Given the description of an element on the screen output the (x, y) to click on. 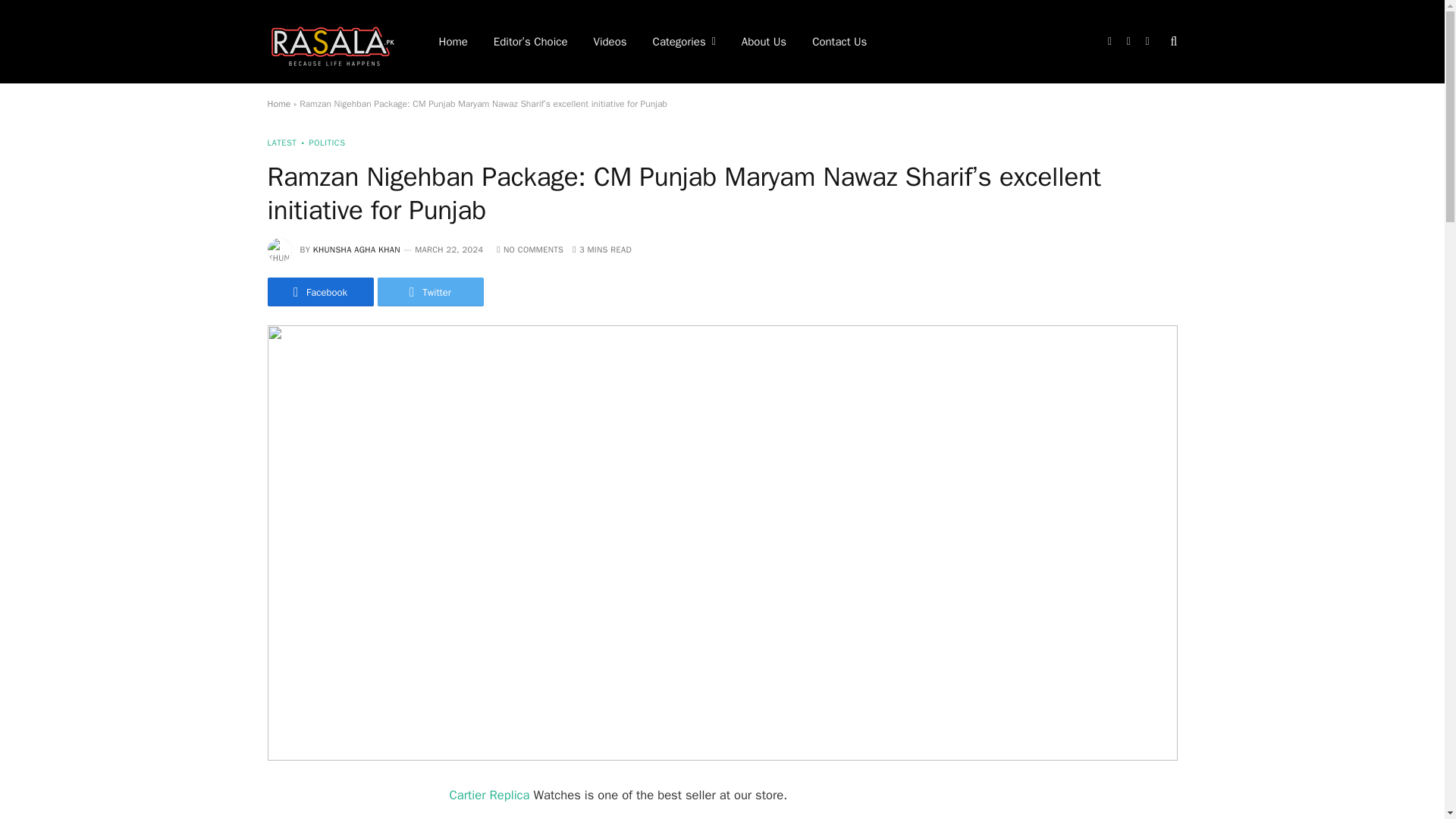
KHUNSHA AGHA KHAN (356, 249)
Share on Facebook (319, 291)
POLITICS (321, 142)
Home (277, 103)
Rasala (332, 41)
Contact Us (839, 41)
NO COMMENTS (529, 249)
Share on Twitter (430, 291)
LATEST (281, 142)
Categories (684, 41)
